Given the description of an element on the screen output the (x, y) to click on. 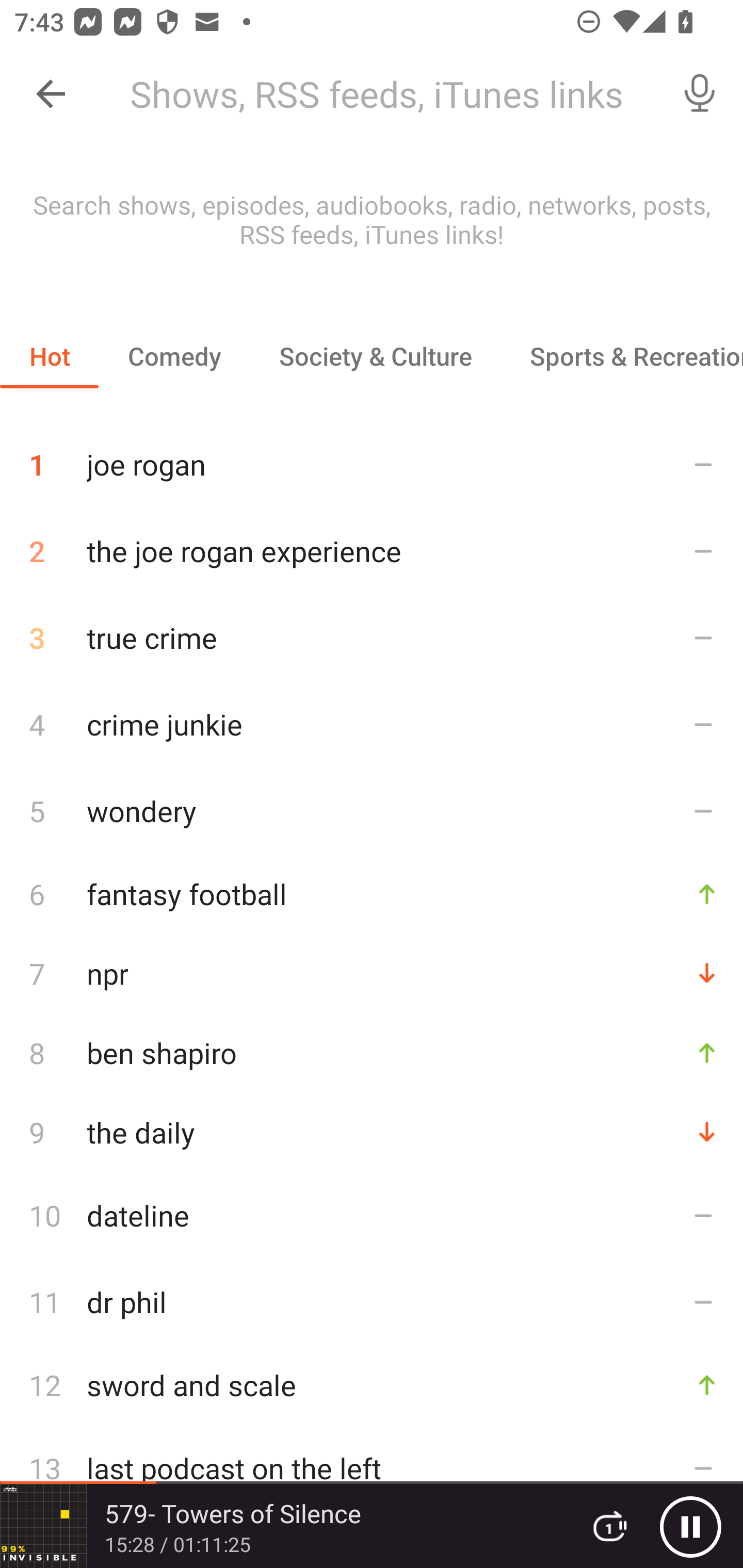
Collapse (50, 93)
Voice Search (699, 93)
Shows, RSS feeds, iTunes links (385, 94)
Hot (49, 355)
Comedy (173, 355)
Society & Culture (374, 355)
Sports & Recreation (621, 355)
1 joe rogan (371, 457)
2 the joe rogan experience (371, 551)
3 true crime (371, 637)
4 crime junkie (371, 723)
5 wondery (371, 810)
6 fantasy football (371, 893)
7 npr (371, 972)
8 ben shapiro (371, 1052)
9 the daily (371, 1131)
10 dateline (371, 1215)
11 dr phil (371, 1302)
12 sword and scale (371, 1385)
13 last podcast on the left (371, 1468)
579- Towers of Silence 15:28 / 01:11:25 (283, 1525)
Pause (690, 1526)
